Given the description of an element on the screen output the (x, y) to click on. 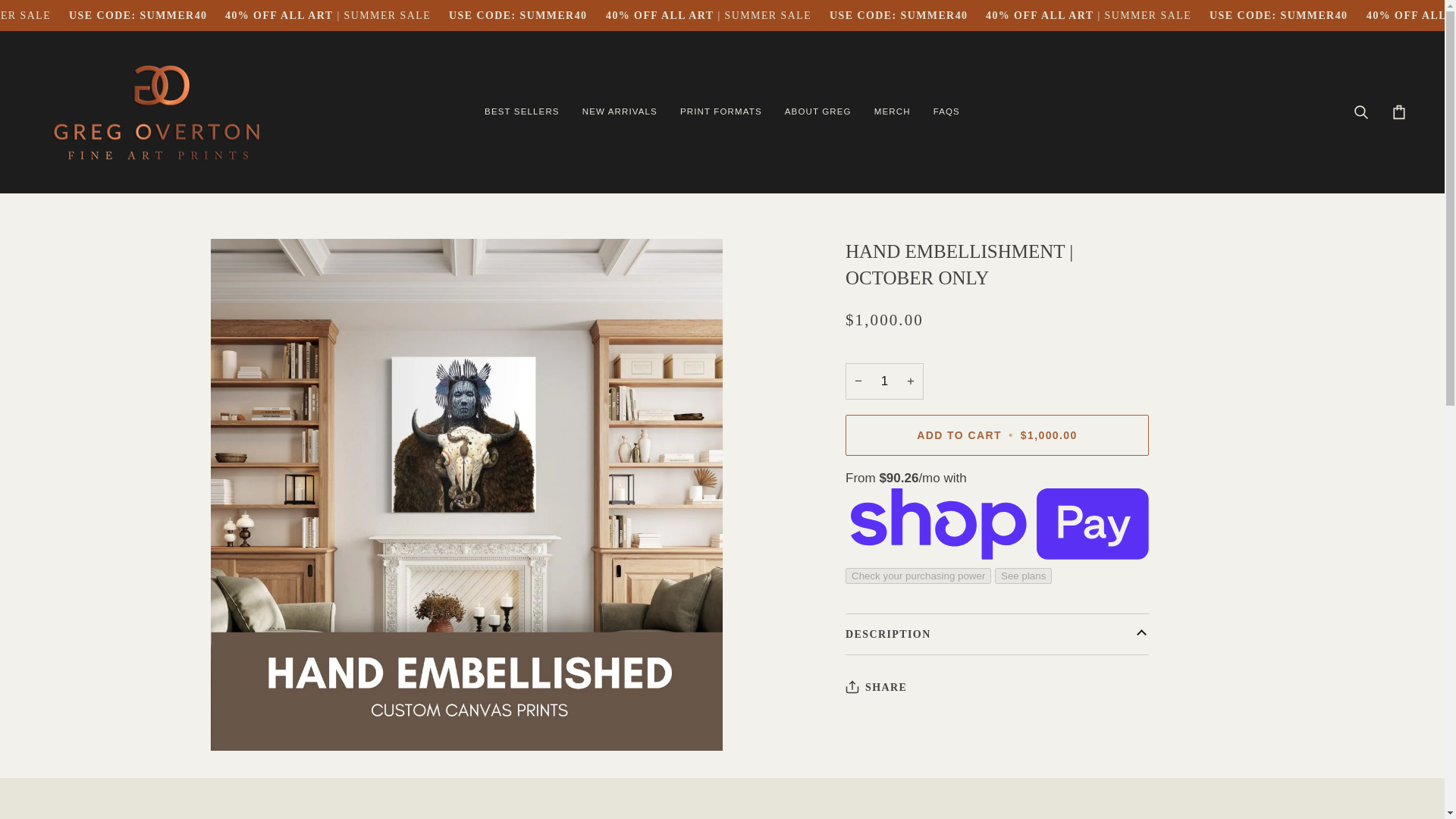
1 (884, 381)
